Given the description of an element on the screen output the (x, y) to click on. 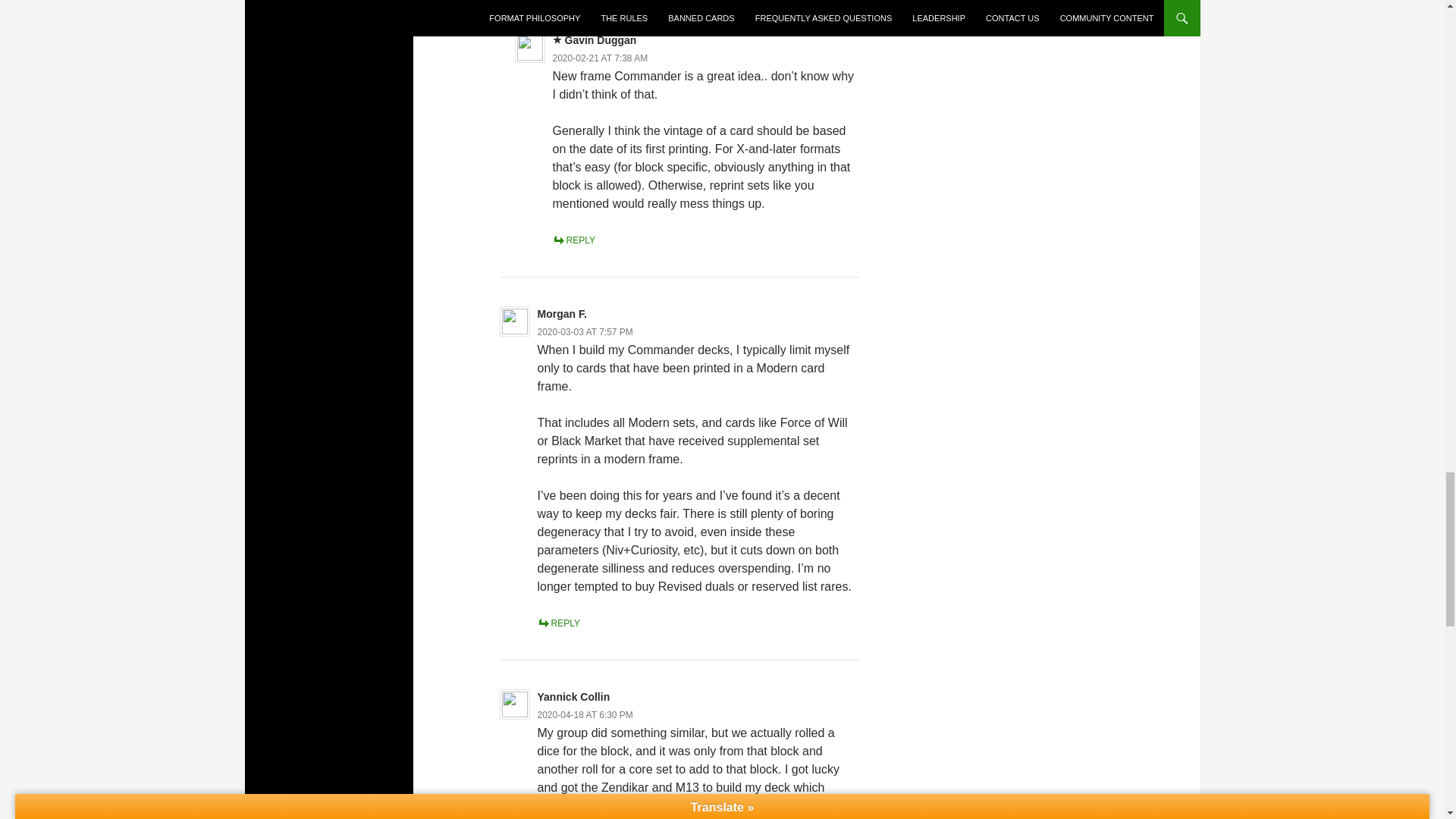
2020-04-18 AT 6:30 PM (585, 715)
2020-03-03 AT 7:57 PM (585, 331)
REPLY (558, 623)
REPLY (574, 240)
2020-02-21 AT 7:38 AM (600, 58)
